Given the description of an element on the screen output the (x, y) to click on. 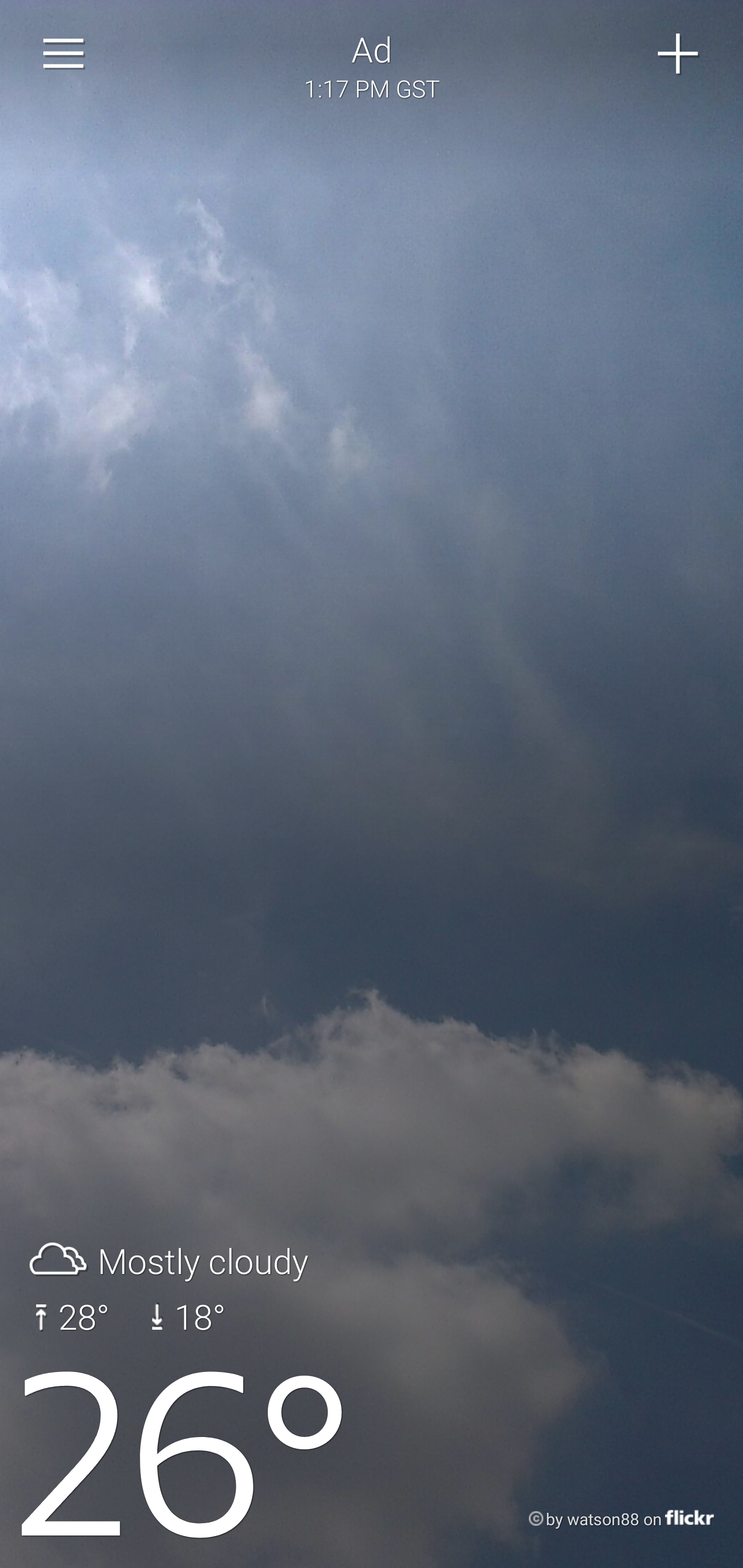
Sidebar (64, 54)
Add City (678, 53)
